Given the description of an element on the screen output the (x, y) to click on. 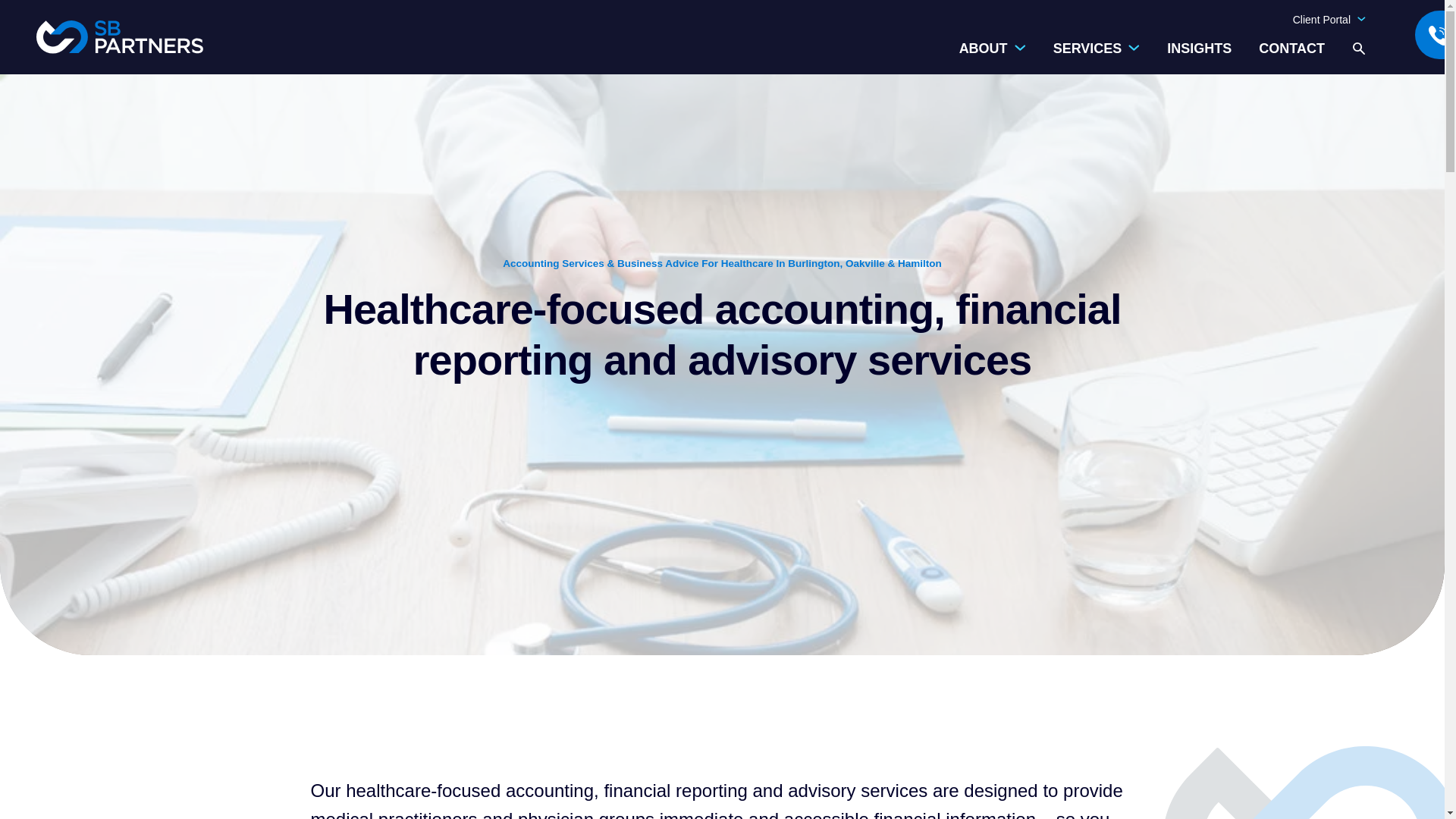
Services (1096, 57)
CONTACT (1291, 48)
ABOUT (992, 57)
INSIGHTS (1199, 48)
SERVICES (1096, 57)
Client Portal (1328, 19)
About (992, 57)
Insights (1199, 48)
